Given the description of an element on the screen output the (x, y) to click on. 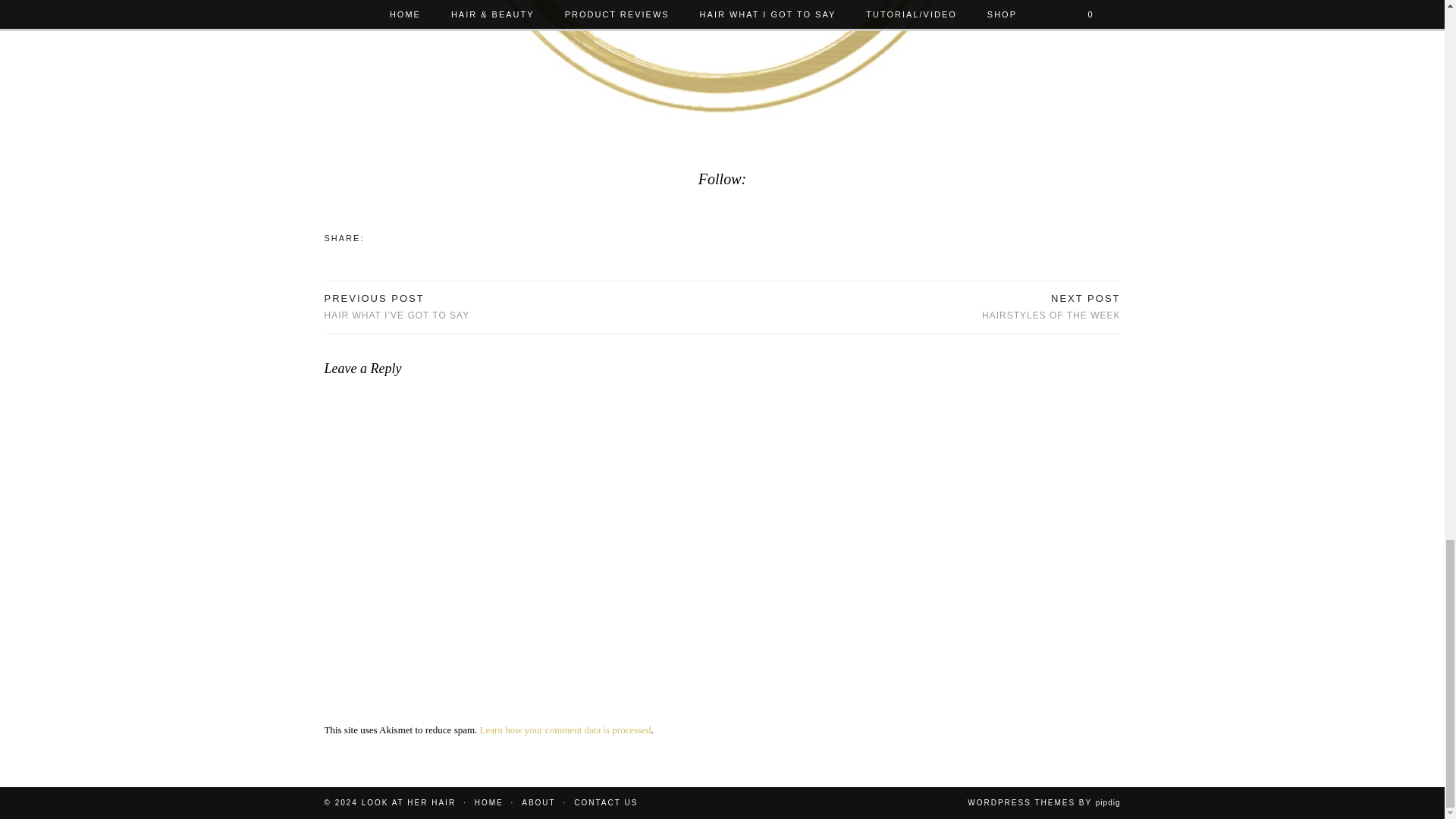
CONTACT US (1050, 307)
LOOK AT HER HAIR (605, 802)
ABOUT (408, 802)
WORDPRESS THEMES BY pipdig (537, 802)
HOME (1043, 802)
Comment Form (488, 802)
